Given the description of an element on the screen output the (x, y) to click on. 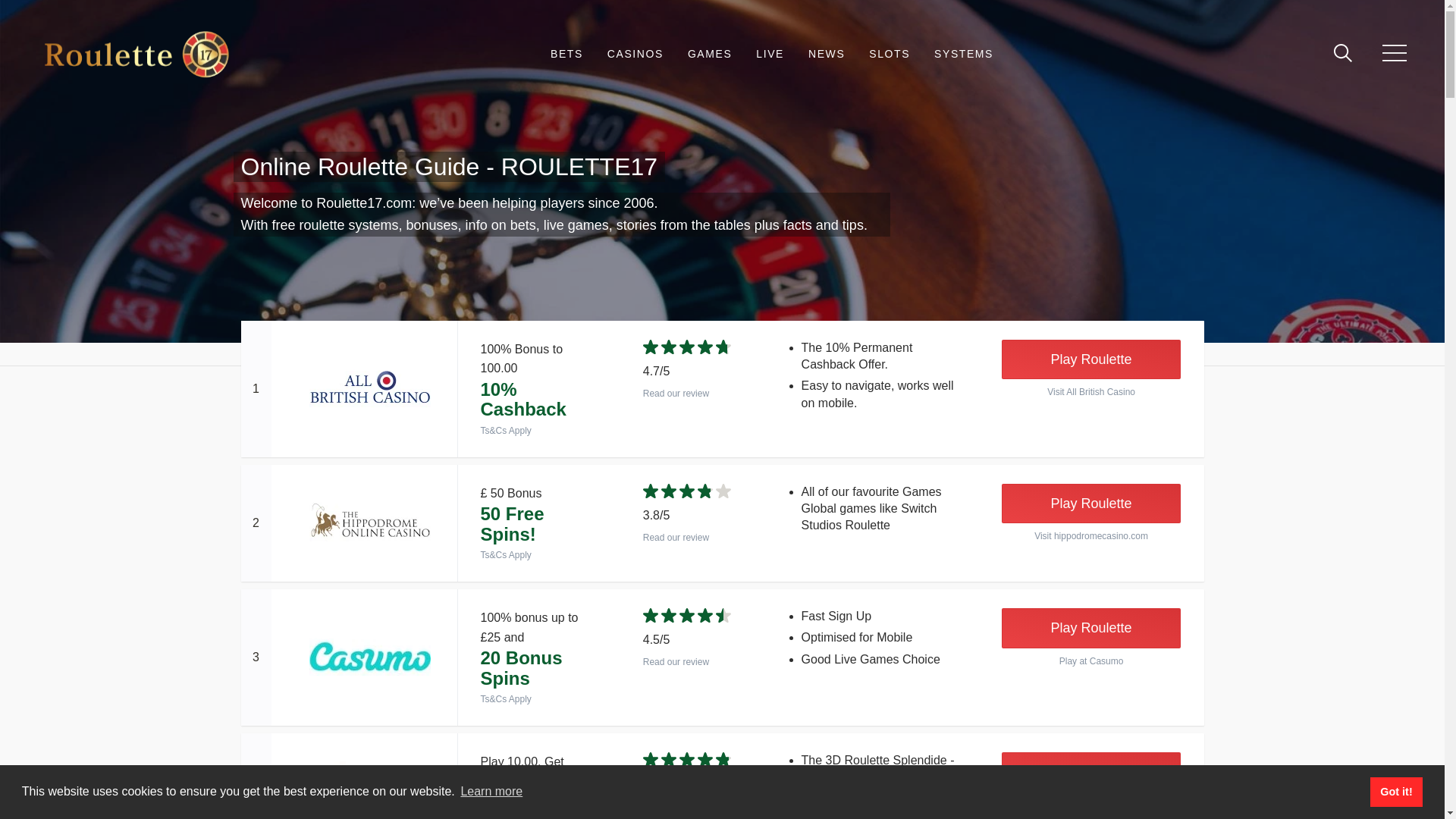
NEWS (826, 54)
CASINOS (635, 54)
LIVE (769, 54)
BETS (566, 54)
GAMES (709, 54)
Search (1330, 54)
Go to the homepage (135, 53)
Got it! (1396, 791)
Additional Menu (1393, 54)
SYSTEMS (963, 54)
SLOTS (889, 54)
Learn more (491, 791)
